Given the description of an element on the screen output the (x, y) to click on. 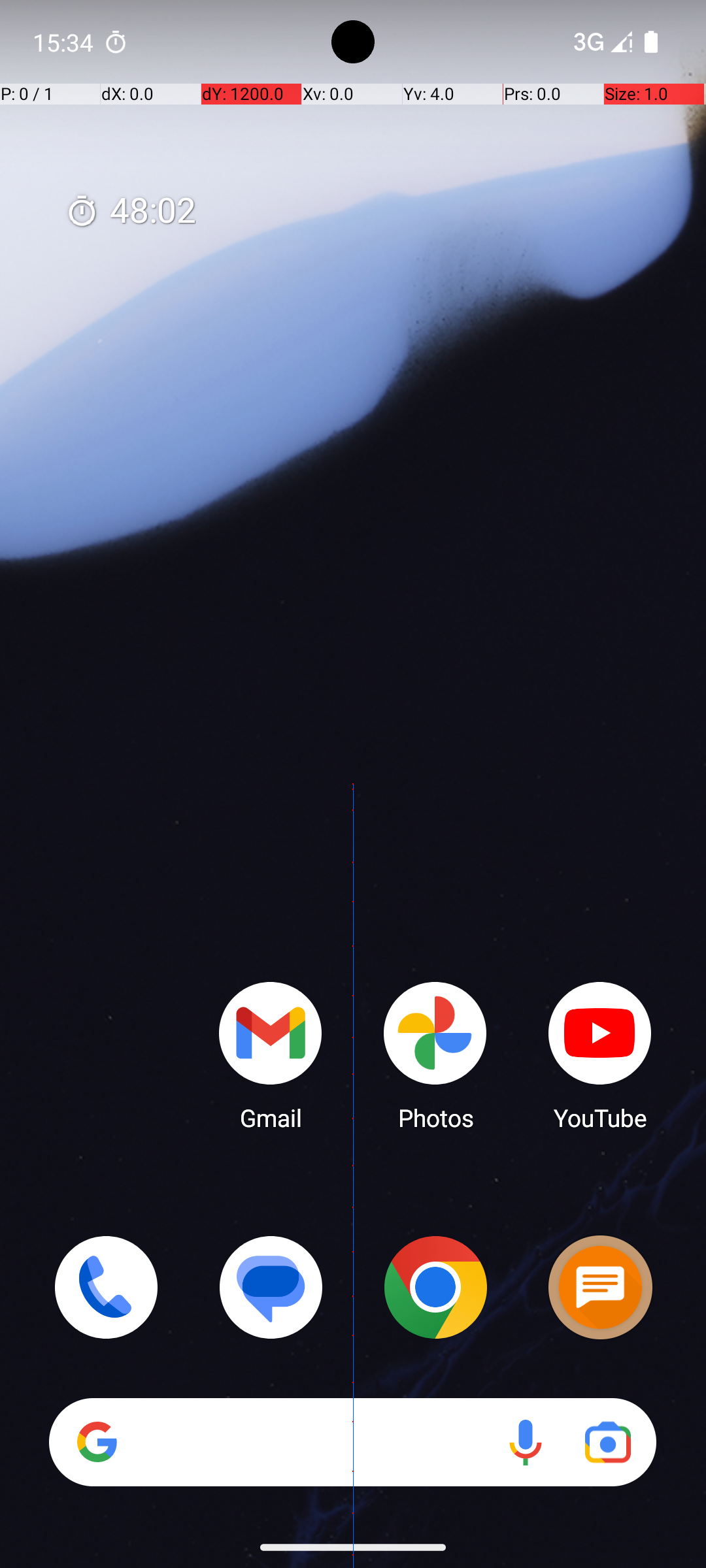
48:02 Element type: android.widget.TextView (130, 210)
